Given the description of an element on the screen output the (x, y) to click on. 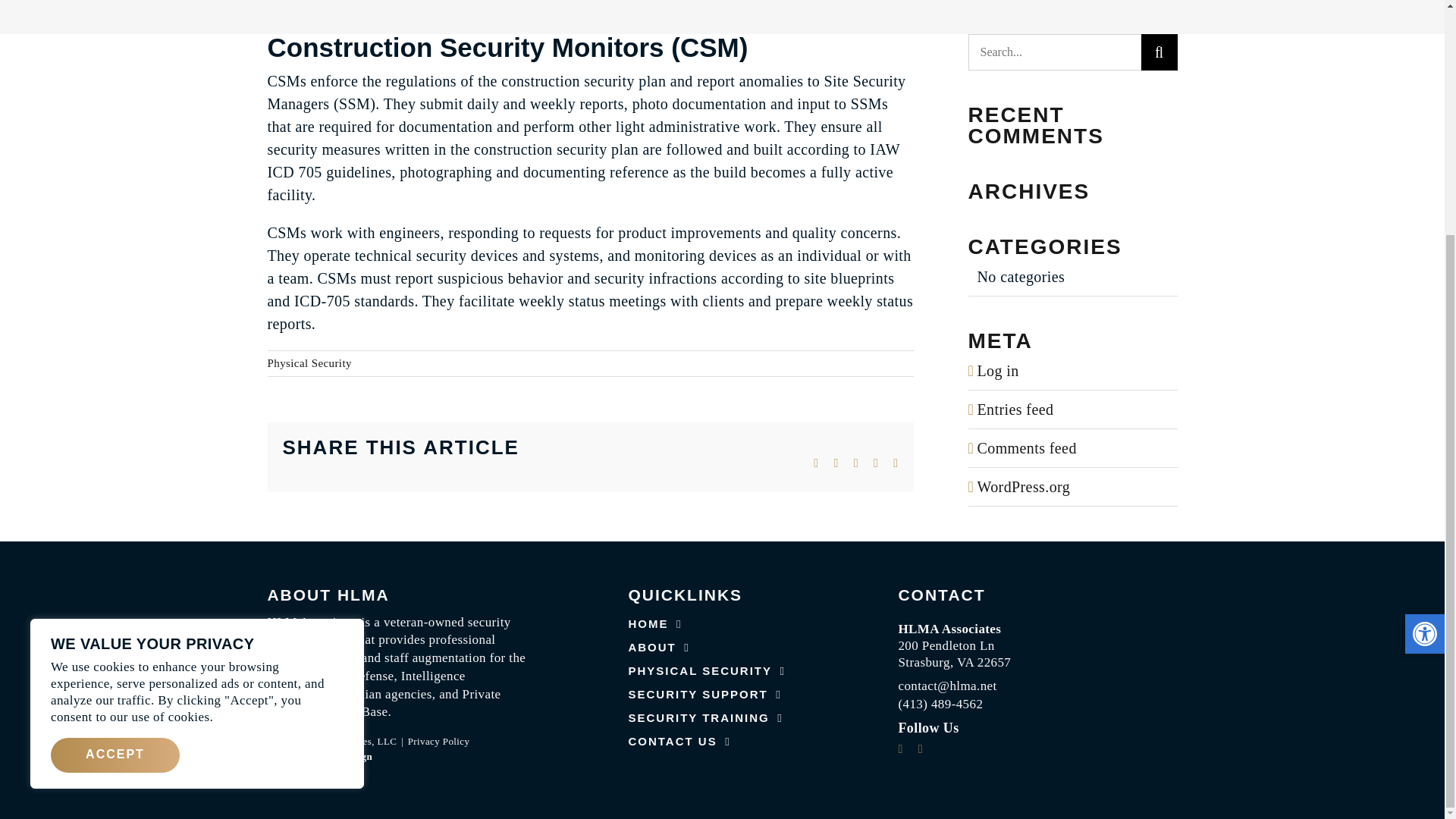
Accessibility Tools (1424, 313)
ACCEPT (114, 434)
